Given the description of an element on the screen output the (x, y) to click on. 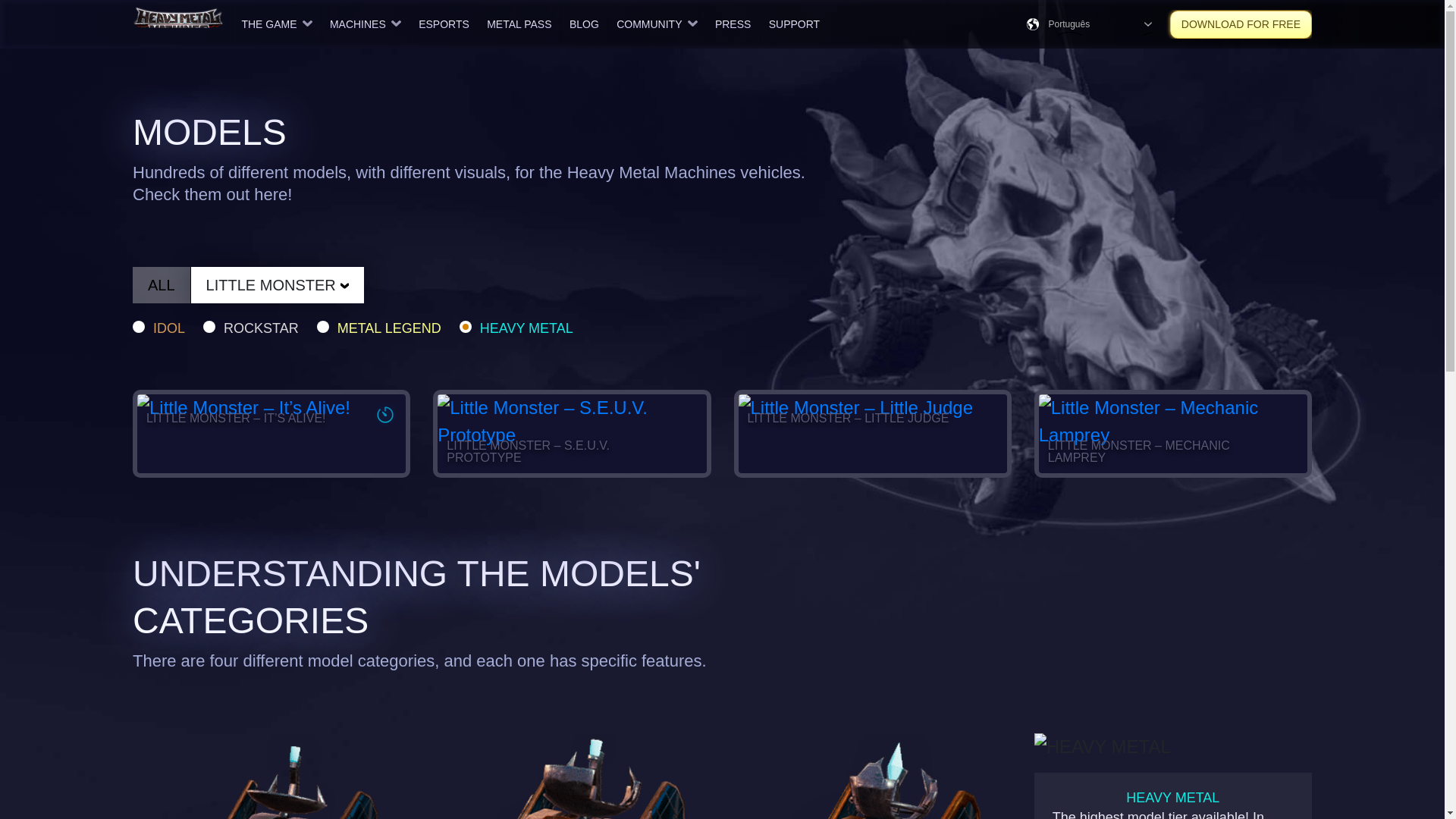
THE GAME (276, 23)
MACHINES (365, 23)
COMMUNITY (656, 23)
ESPORTS (443, 23)
BLOG (583, 23)
METAL PASS (518, 23)
